Given the description of an element on the screen output the (x, y) to click on. 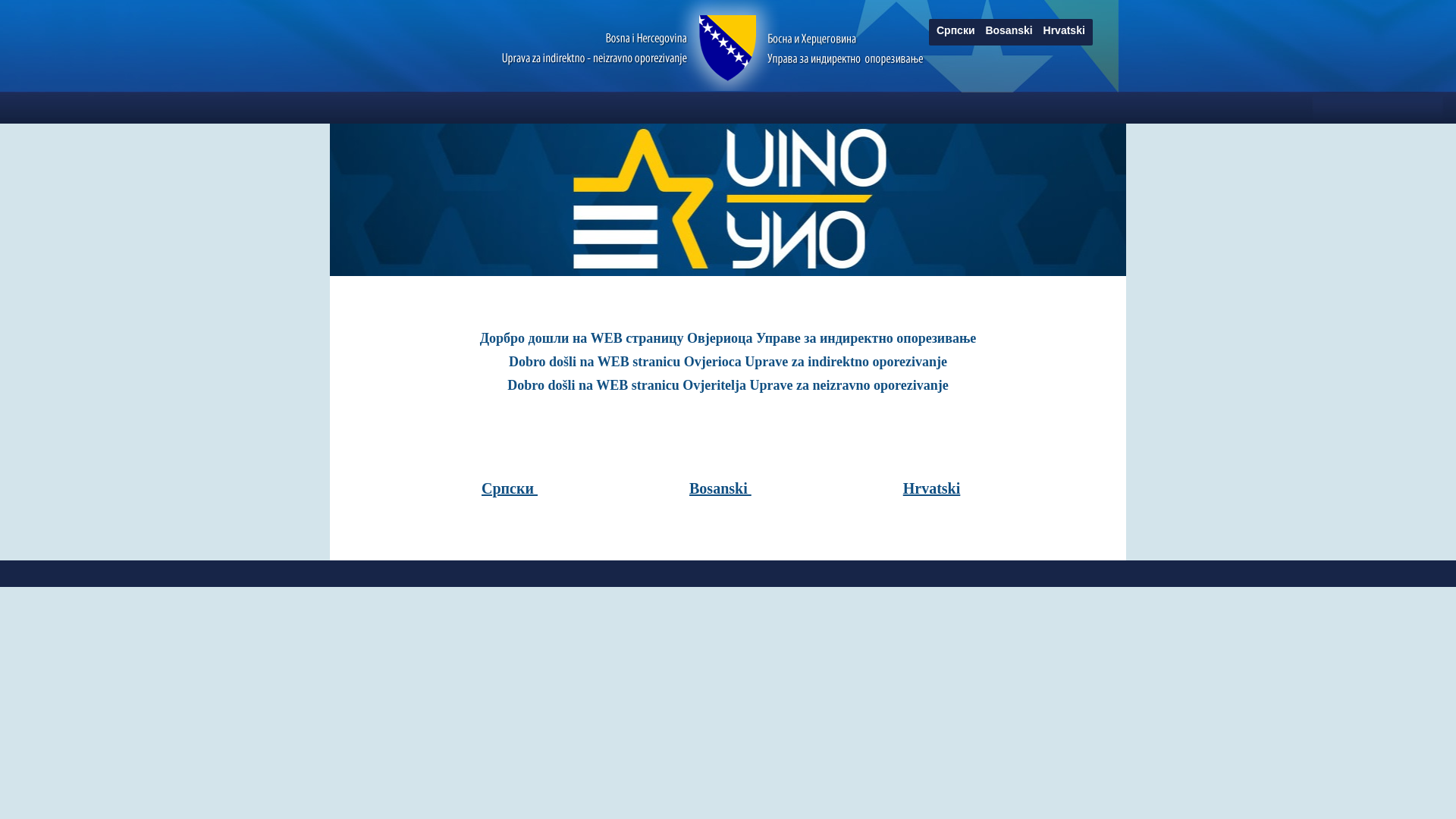
Hrvatski Element type: text (931, 488)
Bosanski Element type: text (1010, 30)
Bosanski Element type: text (720, 488)
Hrvatski Element type: text (1064, 30)
